Given the description of an element on the screen output the (x, y) to click on. 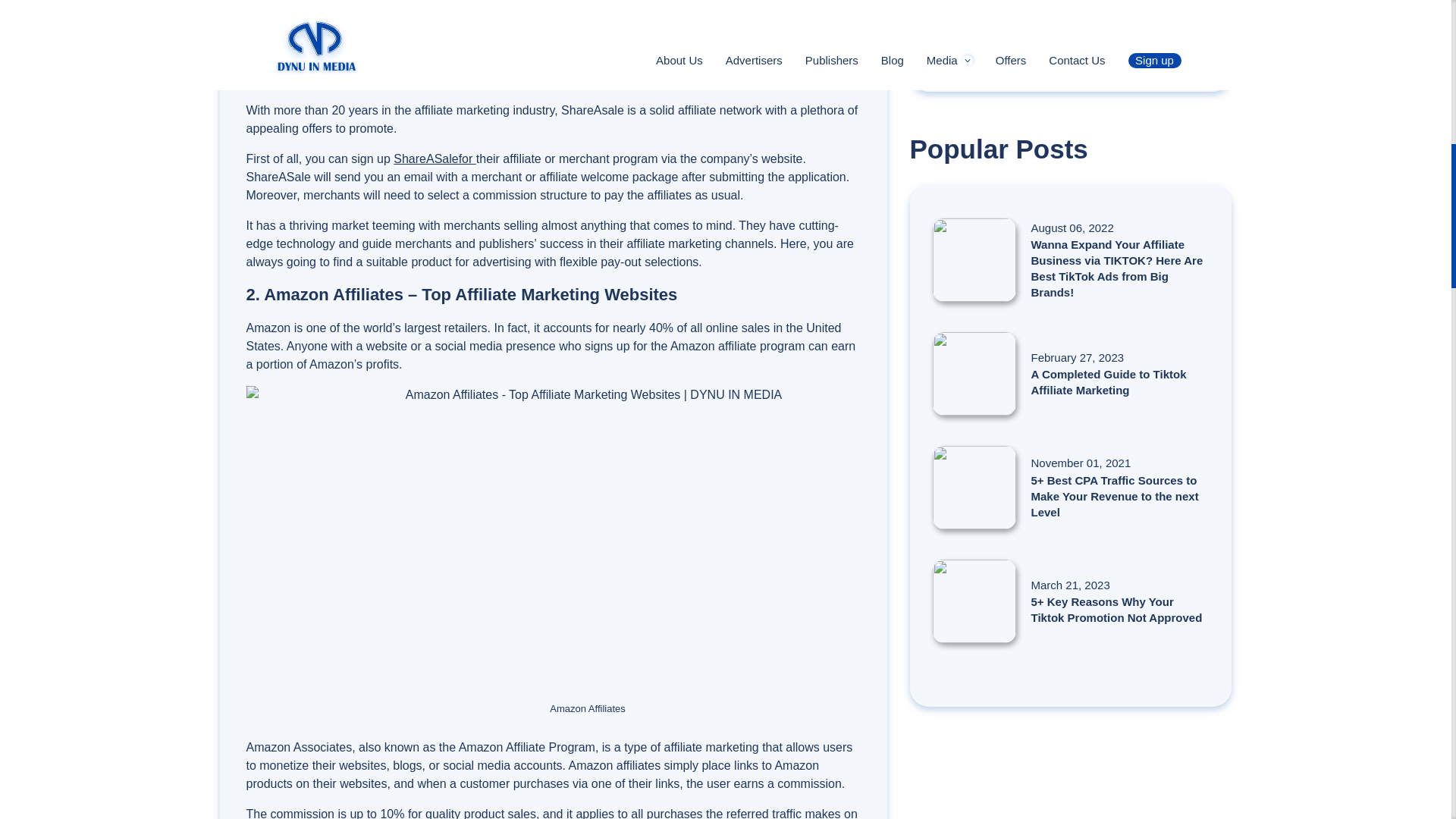
11 Best Ways To Promote Affiliate Links In 2023 (1071, 13)
ShareASalefor (434, 158)
